Given the description of an element on the screen output the (x, y) to click on. 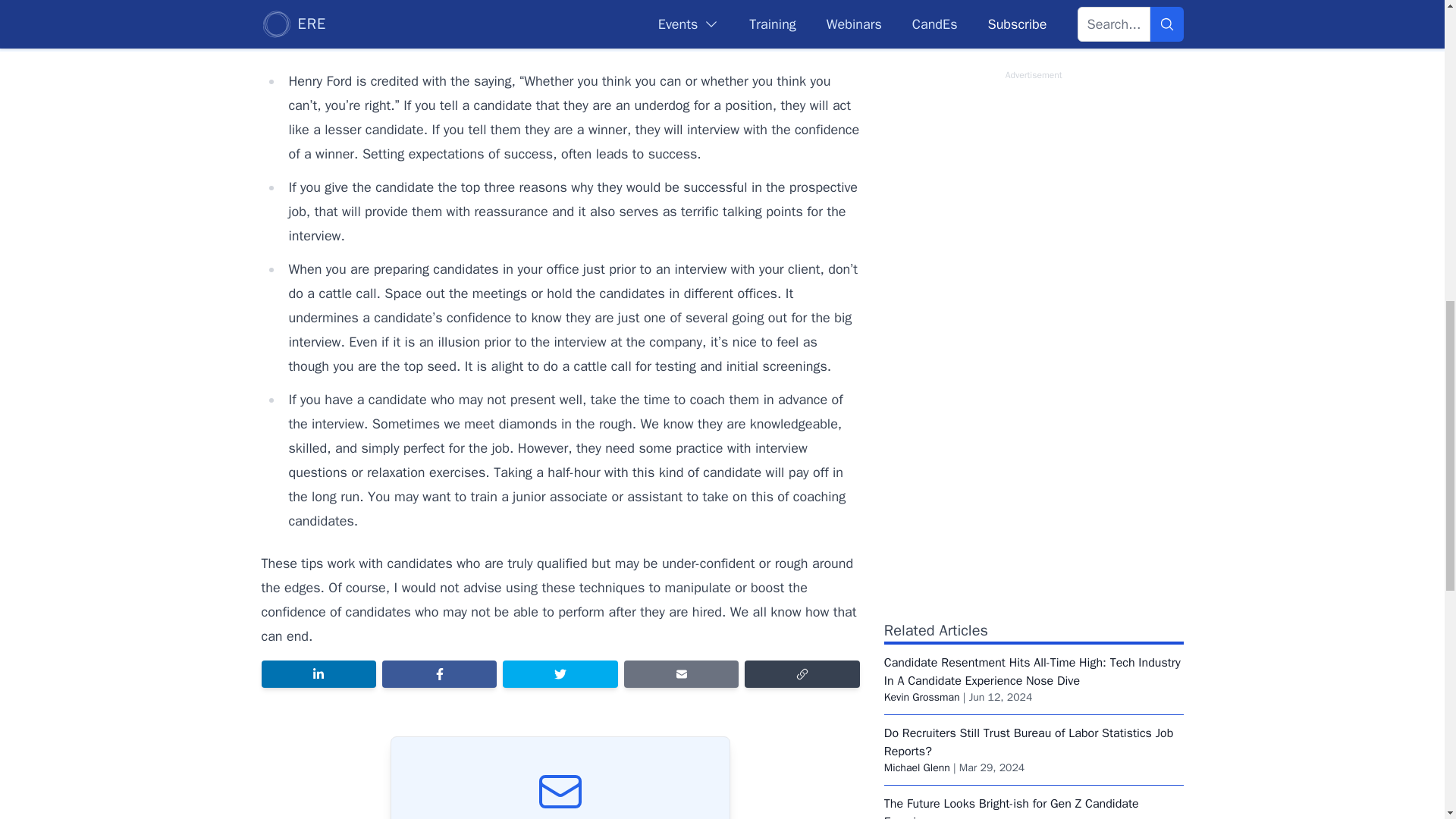
The Future Looks Bright-ish for Gen Z Candidate Experience (1010, 807)
Michael Glenn (916, 767)
Kevin Grossman (921, 697)
